Given the description of an element on the screen output the (x, y) to click on. 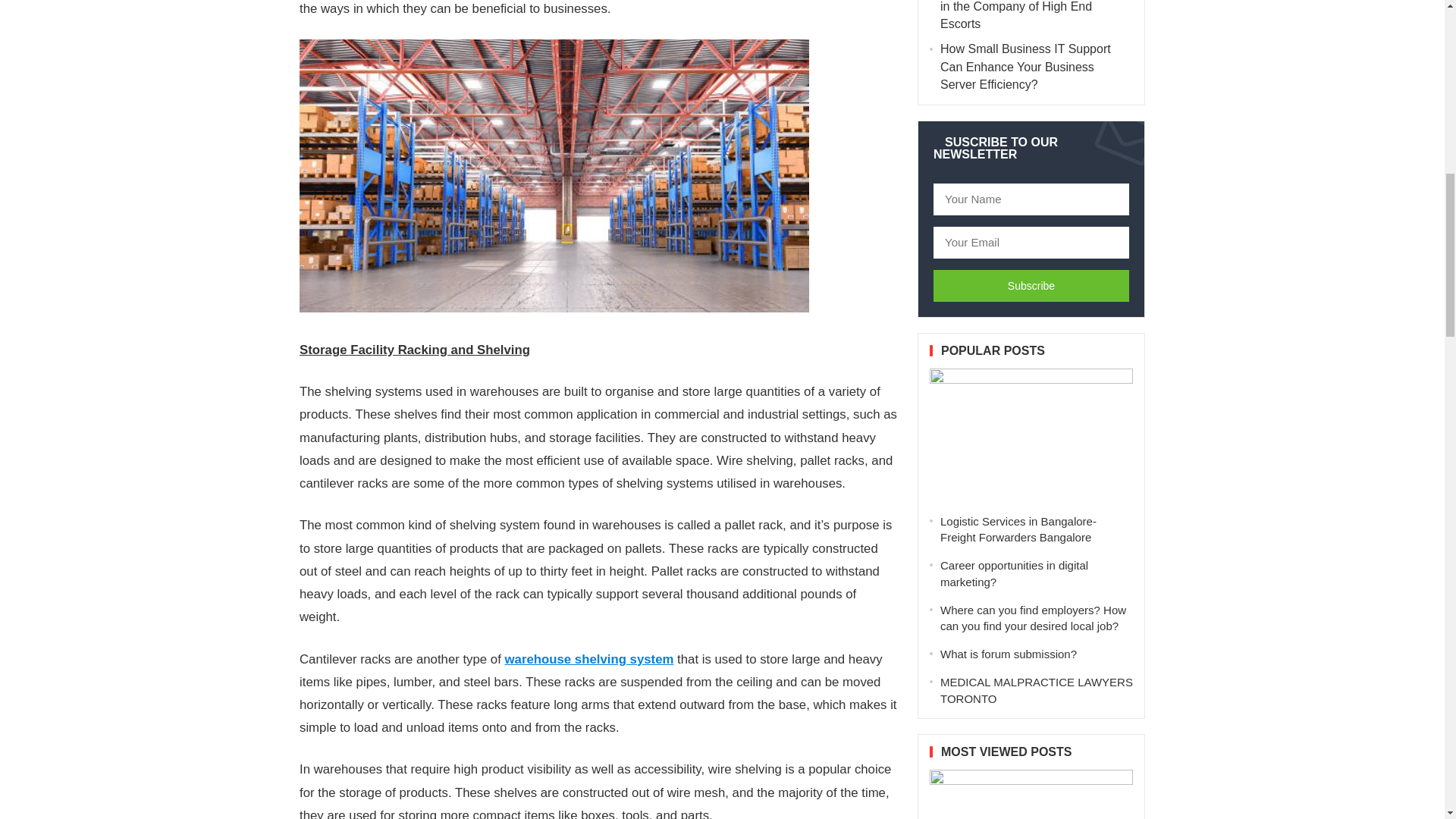
warehouse shelving system (589, 658)
Subscribe (1031, 286)
